Given the description of an element on the screen output the (x, y) to click on. 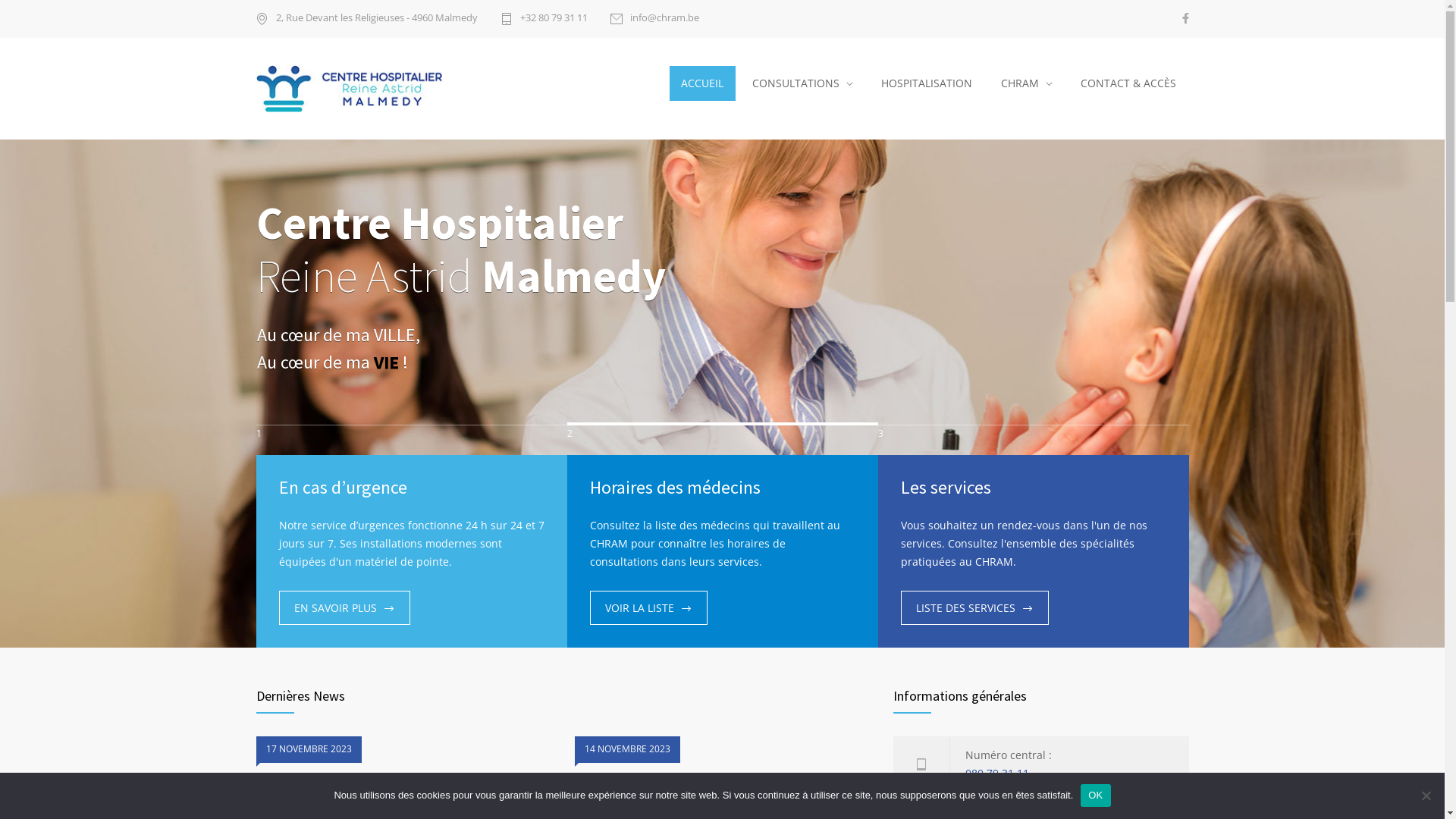
OK Element type: text (1095, 795)
info@chram.be Element type: text (653, 18)
1 Element type: text (411, 439)
CONSULTATIONS Element type: text (802, 83)
Non Element type: hover (1425, 795)
3 Element type: text (1033, 439)
+32 80 79 31 11 Element type: text (543, 18)
CHRAM Element type: text (1026, 83)
ACCUEIL Element type: text (702, 83)
VOIR LA LISTE Element type: text (648, 607)
HOSPITALISATION Element type: text (927, 83)
080 79 31 11 Element type: text (996, 772)
2 Element type: text (722, 439)
EN SAVOIR PLUS Element type: text (344, 607)
LISTE DES SERVICES Element type: text (974, 607)
